Given the description of an element on the screen output the (x, y) to click on. 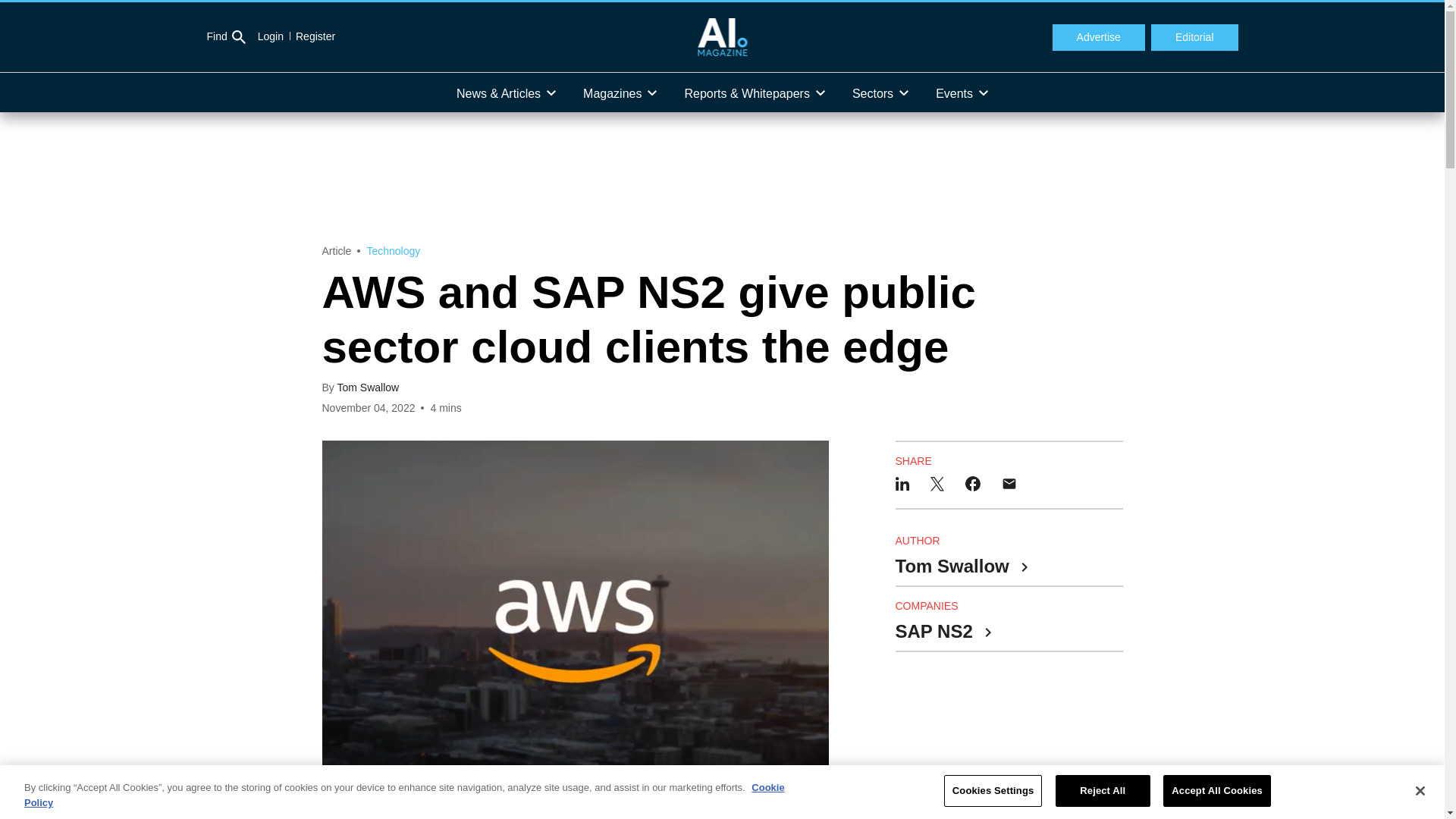
3rd party ad content (1008, 747)
Editorial (1195, 37)
Events (961, 92)
Sectors (879, 92)
Magazines (619, 92)
Login (270, 37)
3rd party ad content (721, 178)
Find (225, 37)
Register (308, 37)
Advertise (1098, 37)
